Given the description of an element on the screen output the (x, y) to click on. 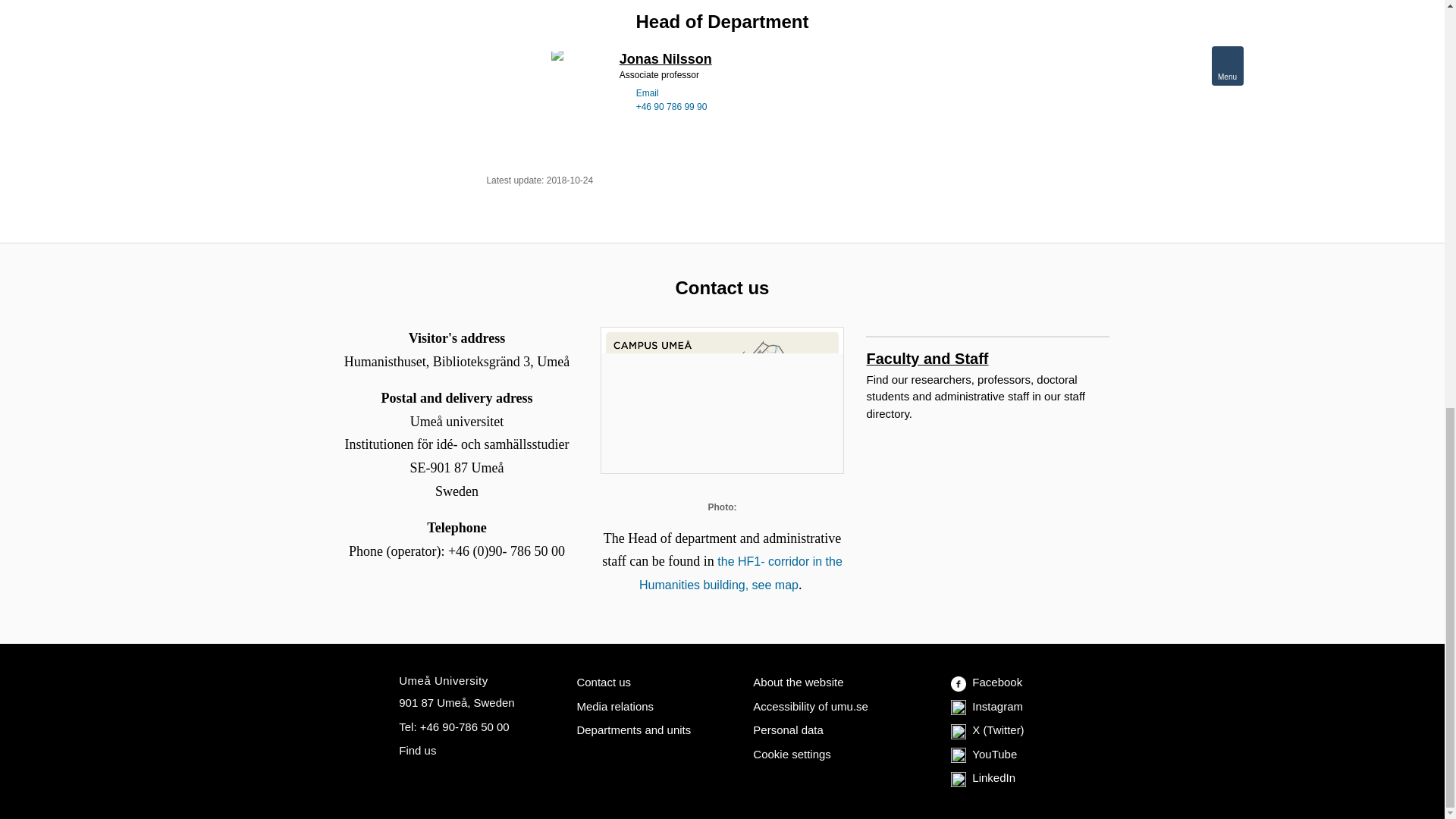
Departments and units (633, 729)
Cookie settings (790, 753)
Facebook (986, 681)
Find us (416, 749)
Media relations (614, 706)
Accessibility of umu.se (809, 706)
Faculty and Staff (987, 347)
Personal data (787, 729)
Phone (624, 105)
Jonas Nilsson (665, 60)
Instagram (986, 706)
the HF1- corridor in the Humanities building, see map (741, 573)
Contact us (603, 681)
E-mail (624, 92)
About the website (797, 681)
